Given the description of an element on the screen output the (x, y) to click on. 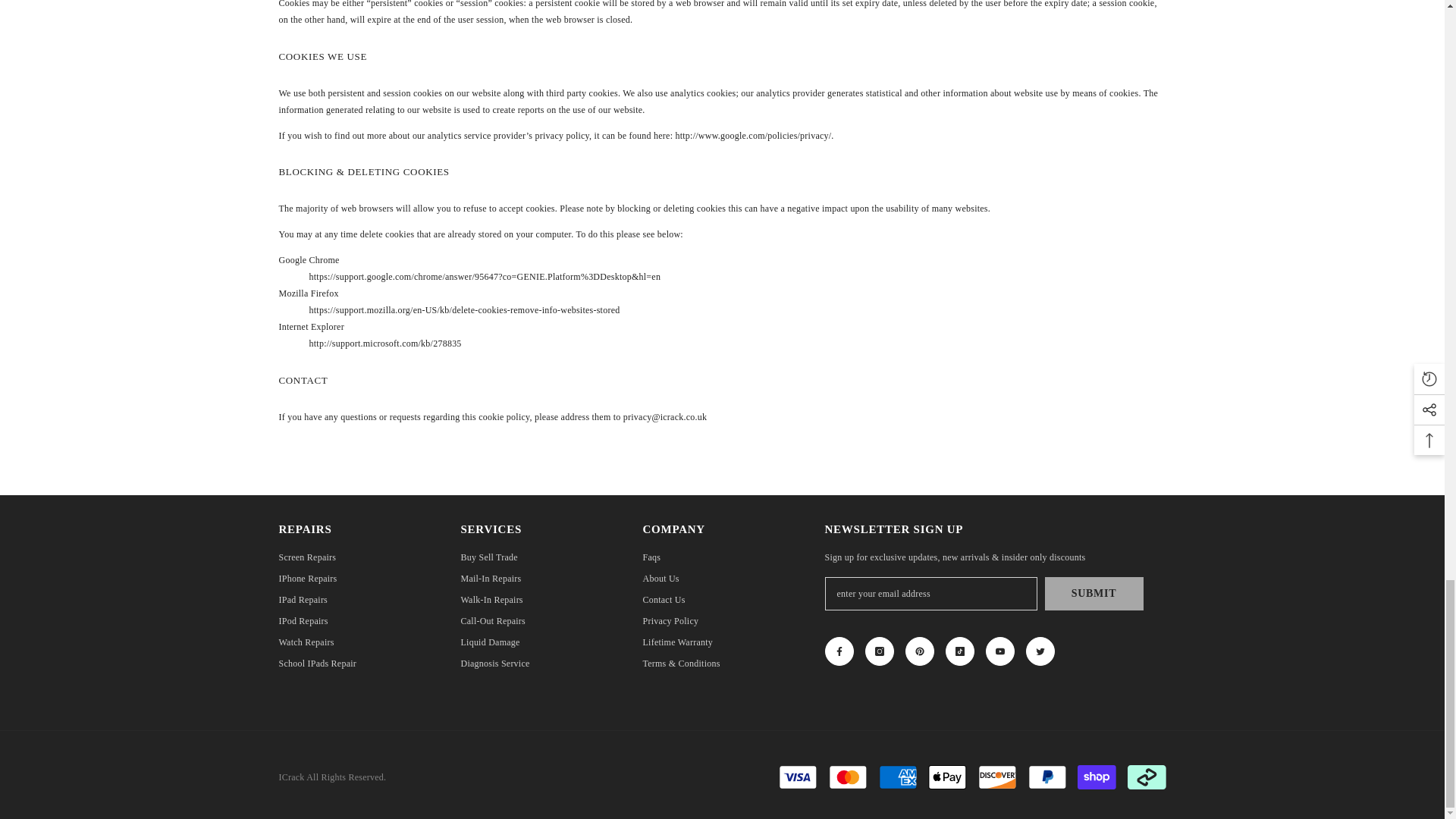
Mastercard (847, 776)
Visa (797, 776)
Shop Pay (1096, 776)
Discover (997, 776)
PayPal (1047, 776)
American Express (898, 776)
Apple Pay (947, 776)
